Given the description of an element on the screen output the (x, y) to click on. 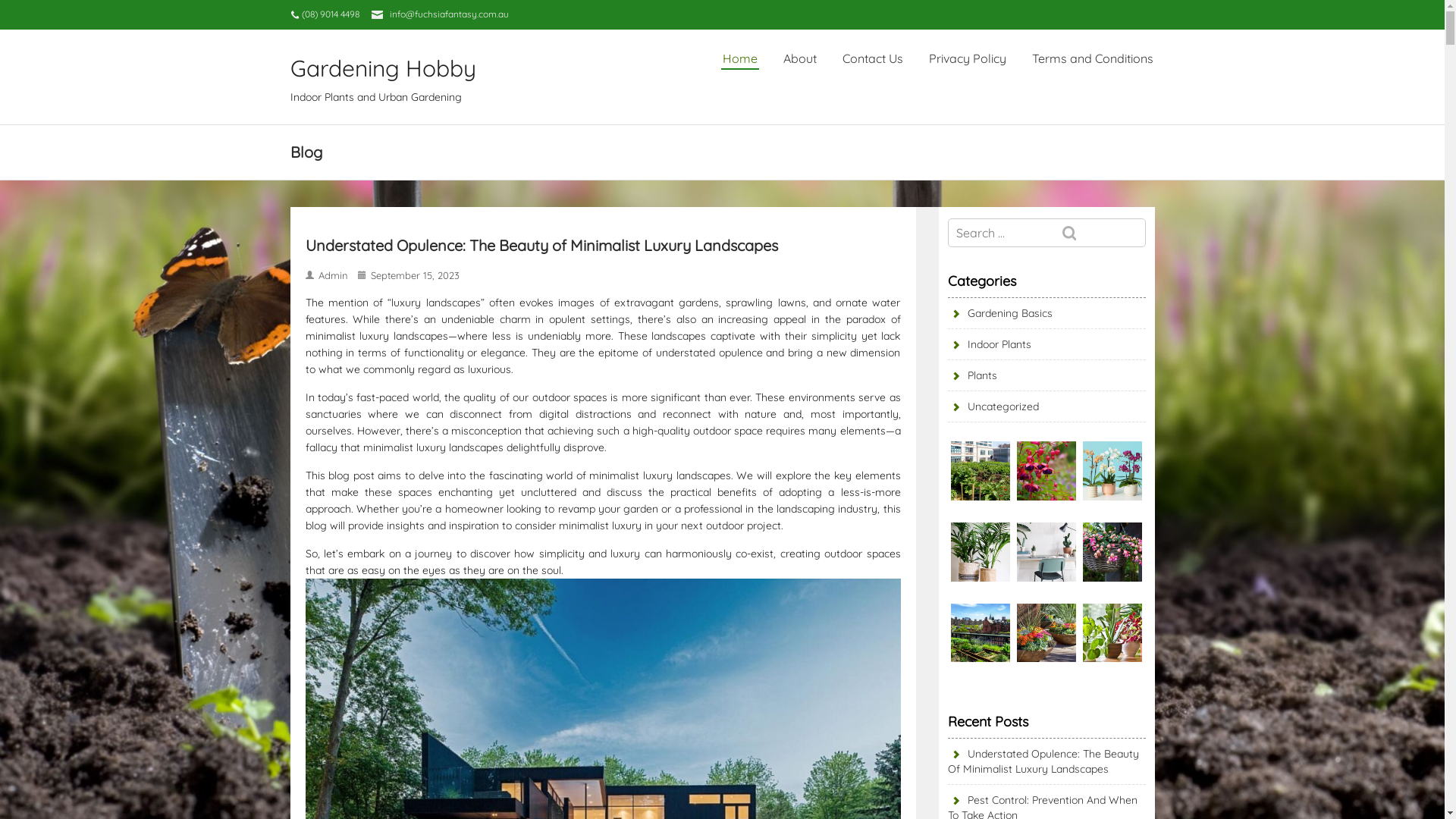
minimalist luxury landscapes Element type: text (432, 447)
About Element type: text (799, 58)
Admin Element type: text (334, 274)
Search Element type: text (1099, 233)
Indoor Plants Element type: text (989, 344)
Gardening Basics Element type: text (999, 313)
info@fuchsiafantasy.com.au Element type: text (448, 13)
Plants Element type: text (972, 375)
Privacy Policy Element type: text (966, 58)
September 15, 2023 Element type: text (415, 274)
Home Element type: text (739, 58)
Contact Us Element type: text (871, 58)
Gardening Hobby Element type: text (389, 68)
Uncategorized Element type: text (992, 406)
Terms and Conditions Element type: text (1091, 58)
